Given the description of an element on the screen output the (x, y) to click on. 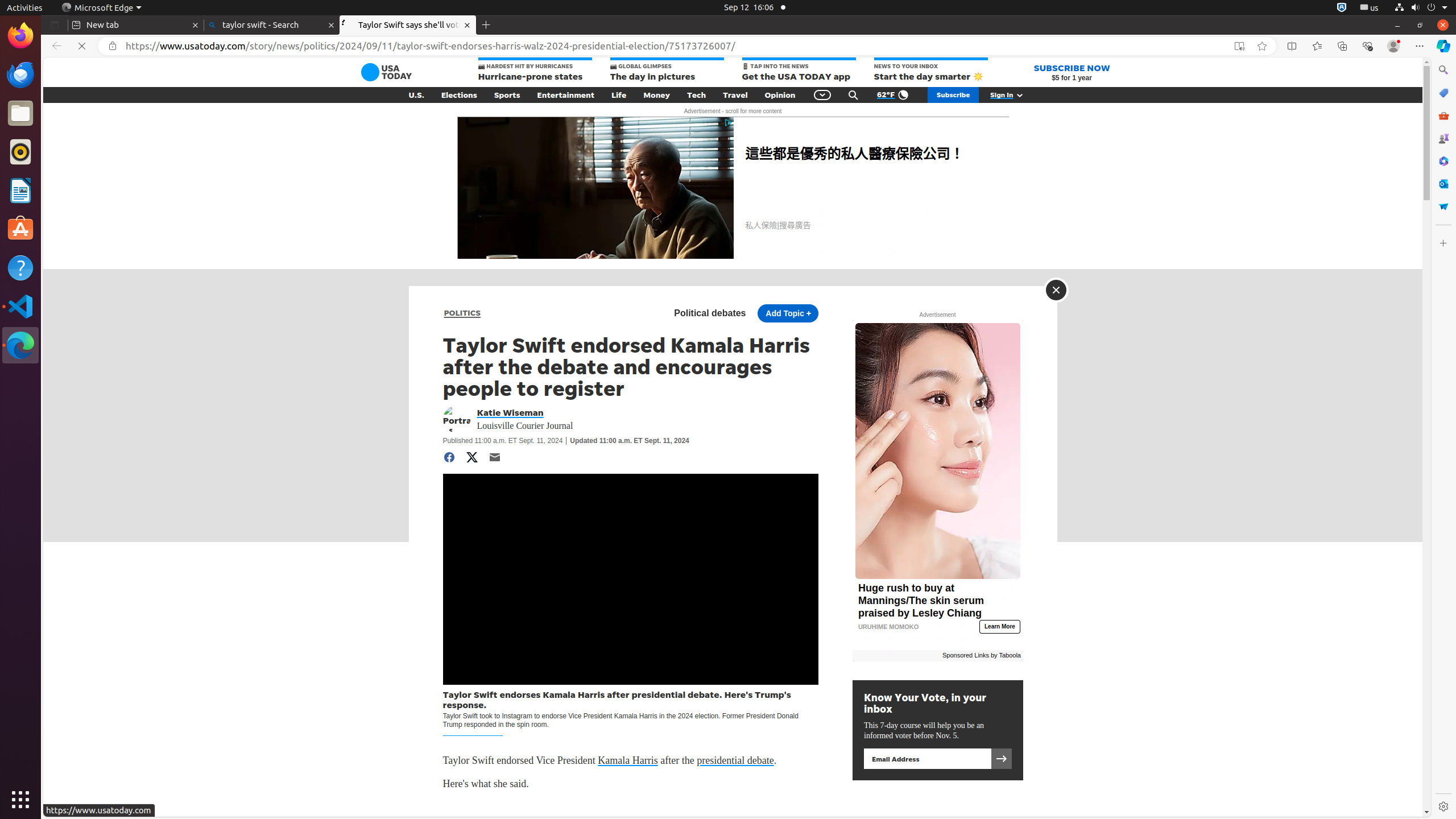
LibreOffice Writer Element type: push-button (20, 190)
Share to Twitter Element type: link (471, 457)
📷 GLOBAL GLIMPSES The day in pictures Element type: link (666, 70)
Settings Element type: push-button (1443, 806)
NEWS TO YOUR INBOX Start the day smarter ☀️ Element type: link (930, 70)
